Given the description of an element on the screen output the (x, y) to click on. 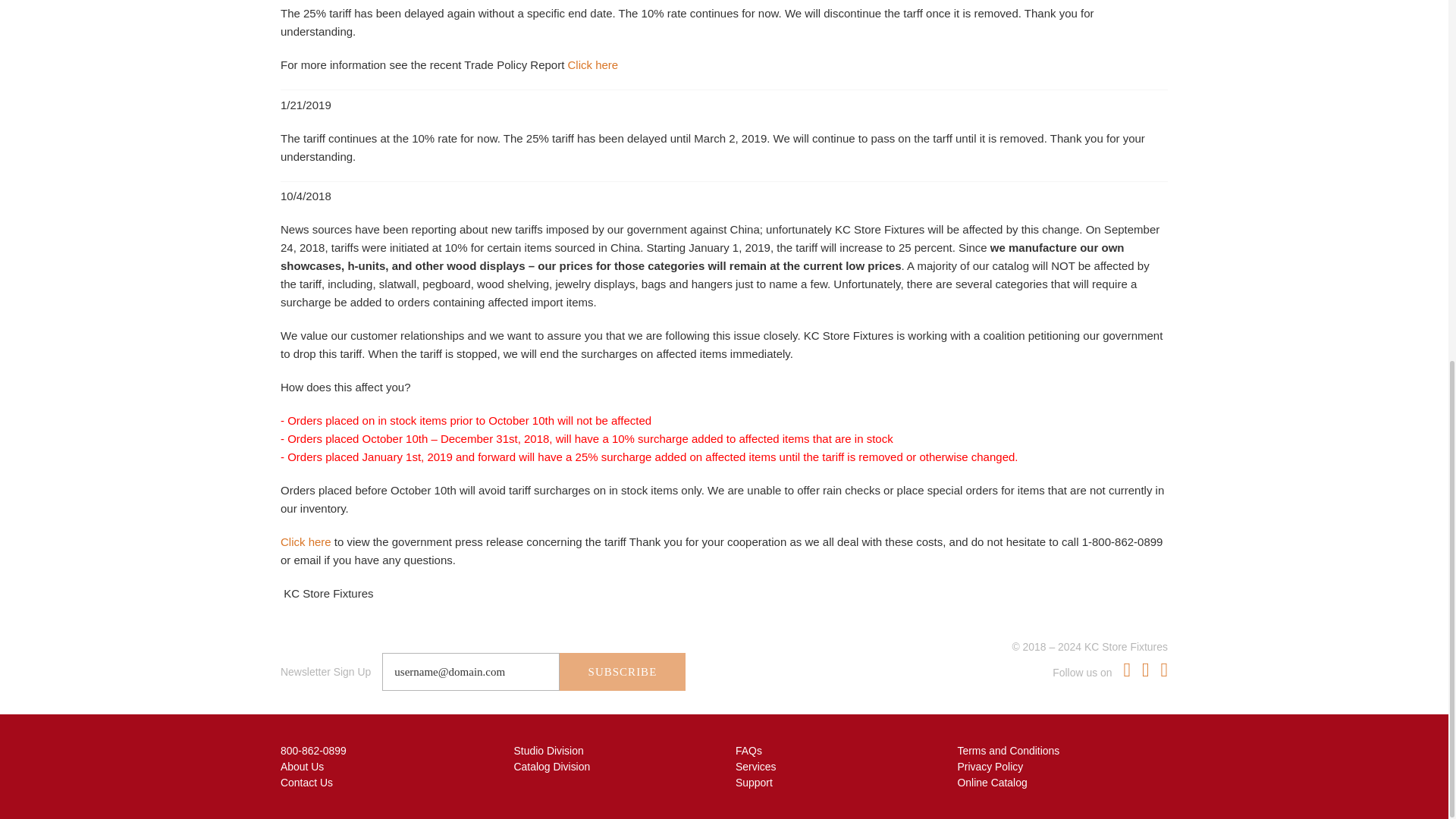
Trade Policy Report (592, 64)
USTR Finalizes Tariffs (306, 541)
